Given the description of an element on the screen output the (x, y) to click on. 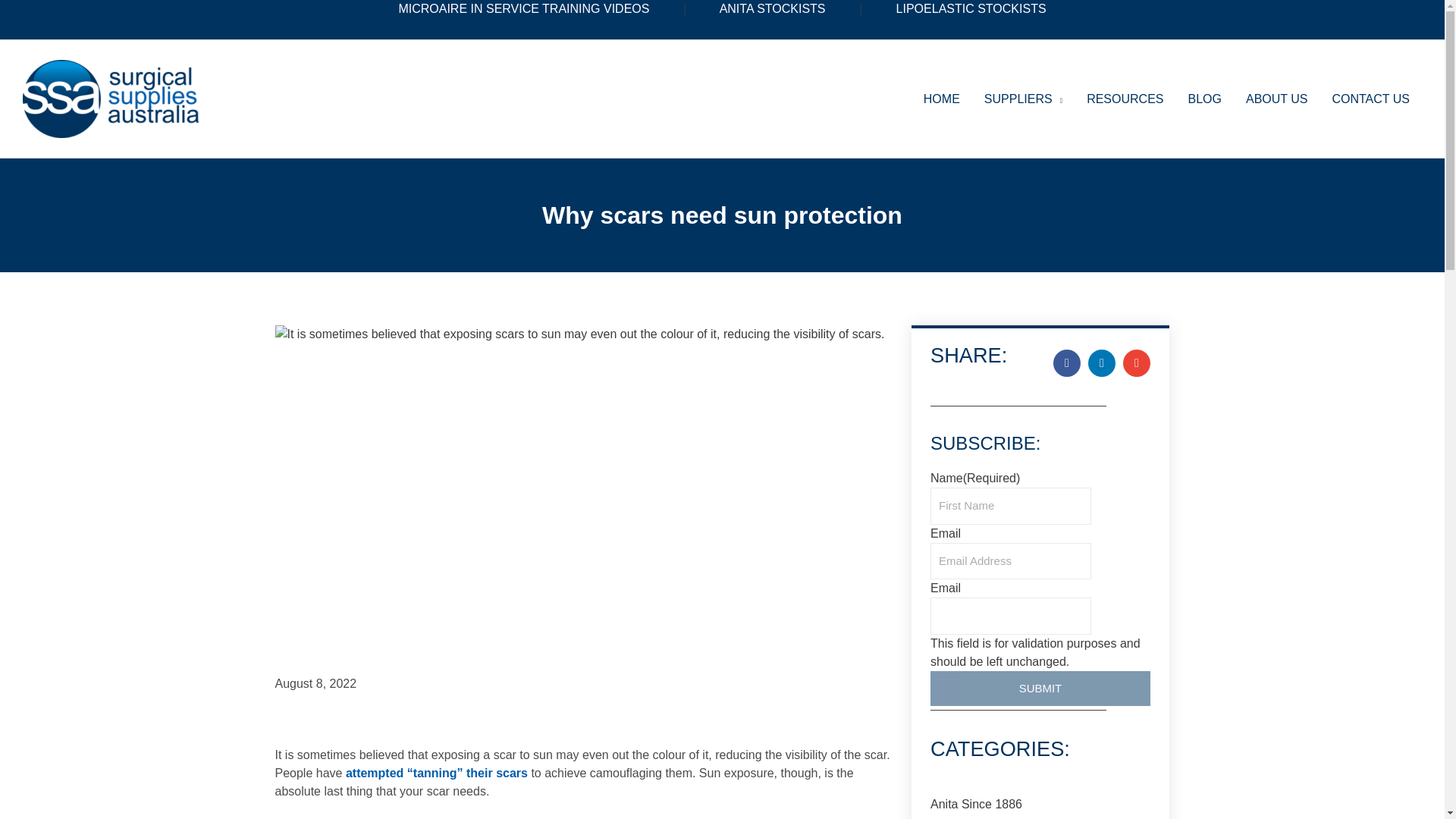
RESOURCES (1124, 98)
HOME (941, 98)
BLOG (1203, 98)
ABOUT US (1276, 98)
CONTACT US (1370, 98)
MICROAIRE IN SERVICE TRAINING VIDEOS (523, 8)
SUPPLIERS (1023, 98)
LIPOELASTIC STOCKISTS (971, 8)
ANITA STOCKISTS (772, 8)
Submit (1040, 687)
